Given the description of an element on the screen output the (x, y) to click on. 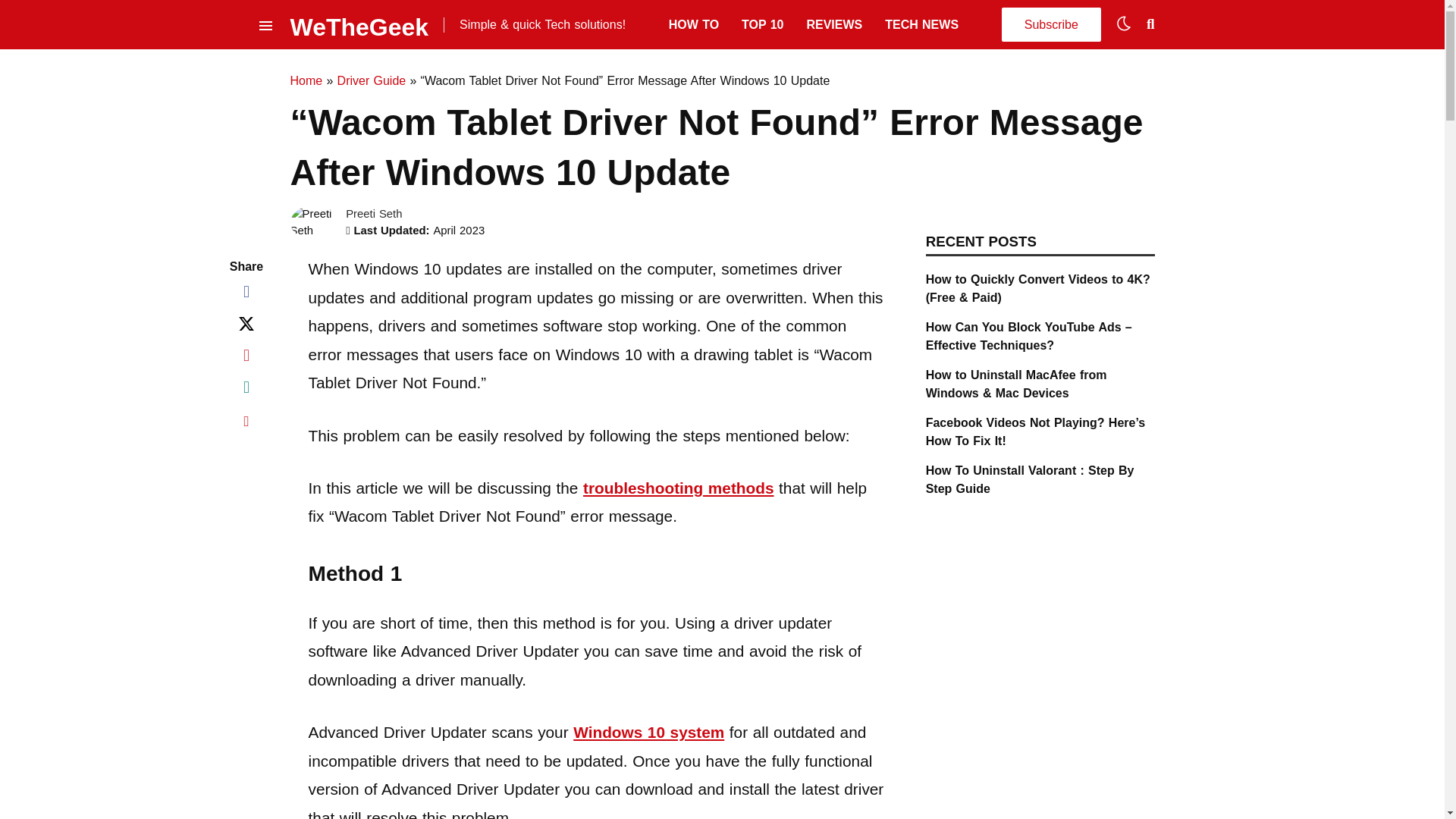
TECH NEWS (921, 24)
WeTheGeek (358, 24)
HOW TO (693, 24)
TOP 10 (762, 24)
REVIEWS (833, 24)
Driver Guide (371, 80)
Home (305, 80)
Preeti Seth (373, 214)
